Given the description of an element on the screen output the (x, y) to click on. 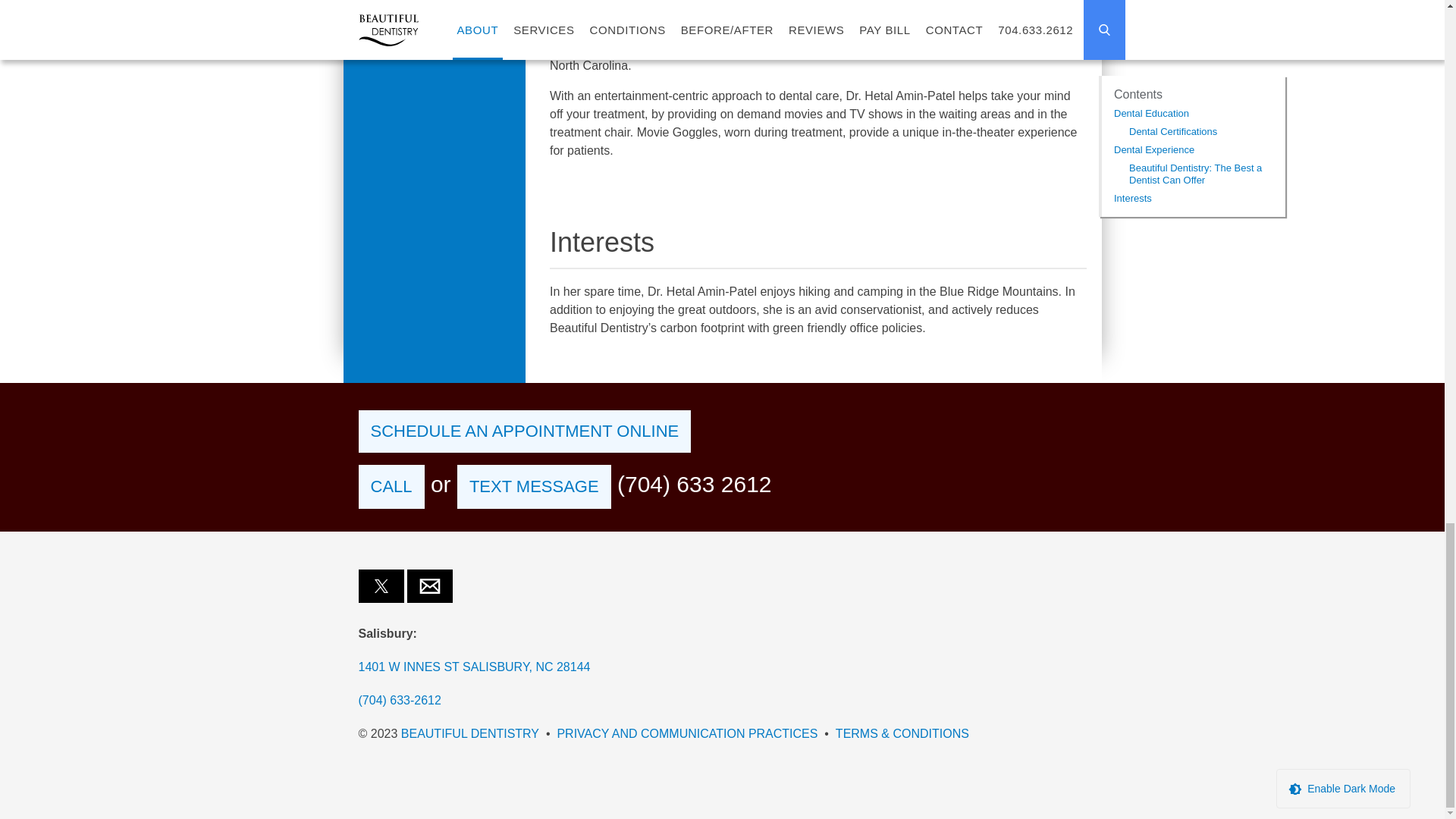
BEAUTIFUL DENTISTRY (469, 733)
PRIVACY AND COMMUNICATION PRACTICES (686, 733)
CALL (390, 486)
SCHEDULE AN APPOINTMENT ONLINE (524, 431)
1401 W INNES ST SALISBURY, NC 28144 (722, 667)
TEXT MESSAGE (534, 486)
